Given the description of an element on the screen output the (x, y) to click on. 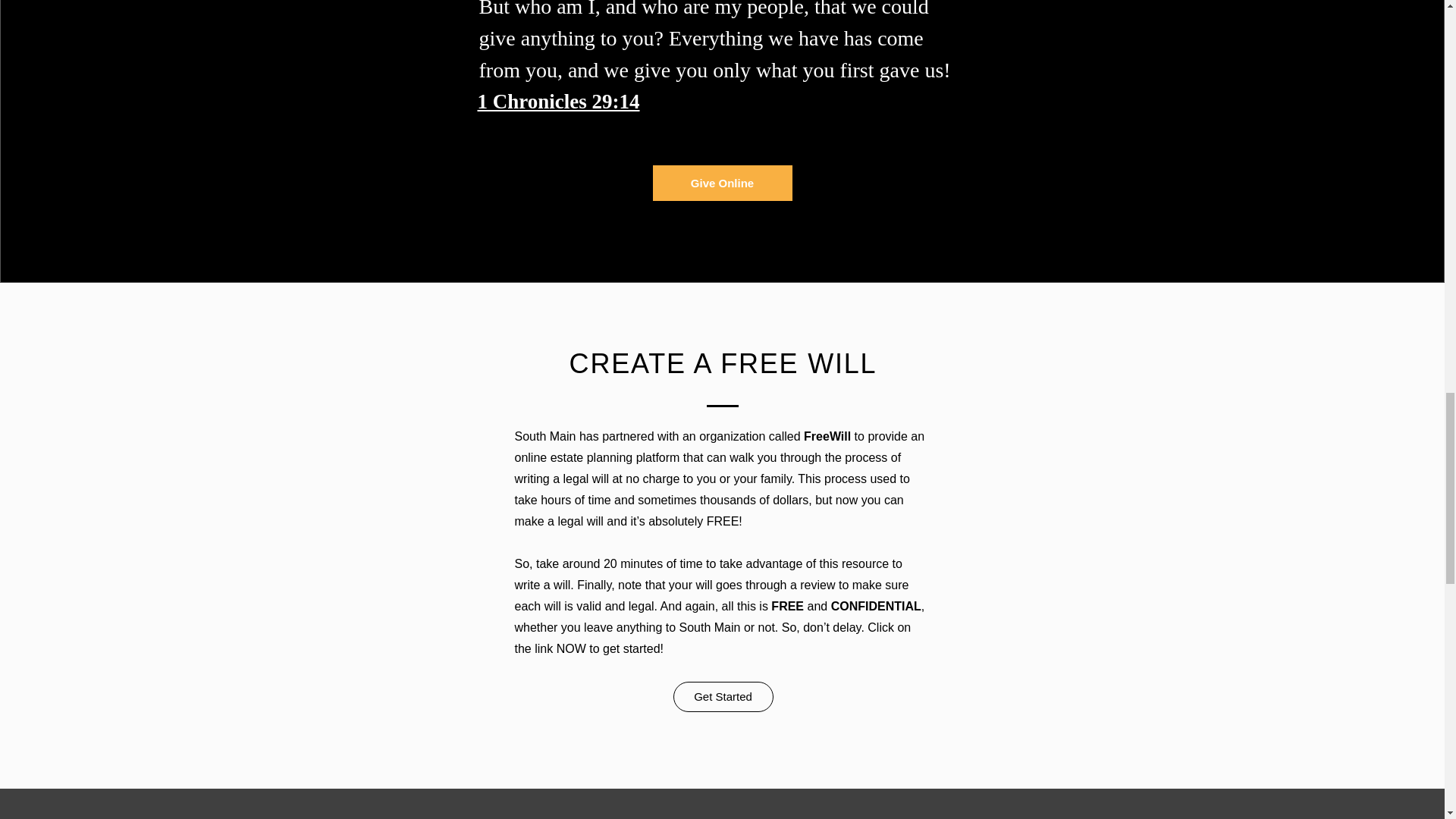
FreeWill (826, 436)
Give Online (722, 182)
Get Started (722, 696)
